Given the description of an element on the screen output the (x, y) to click on. 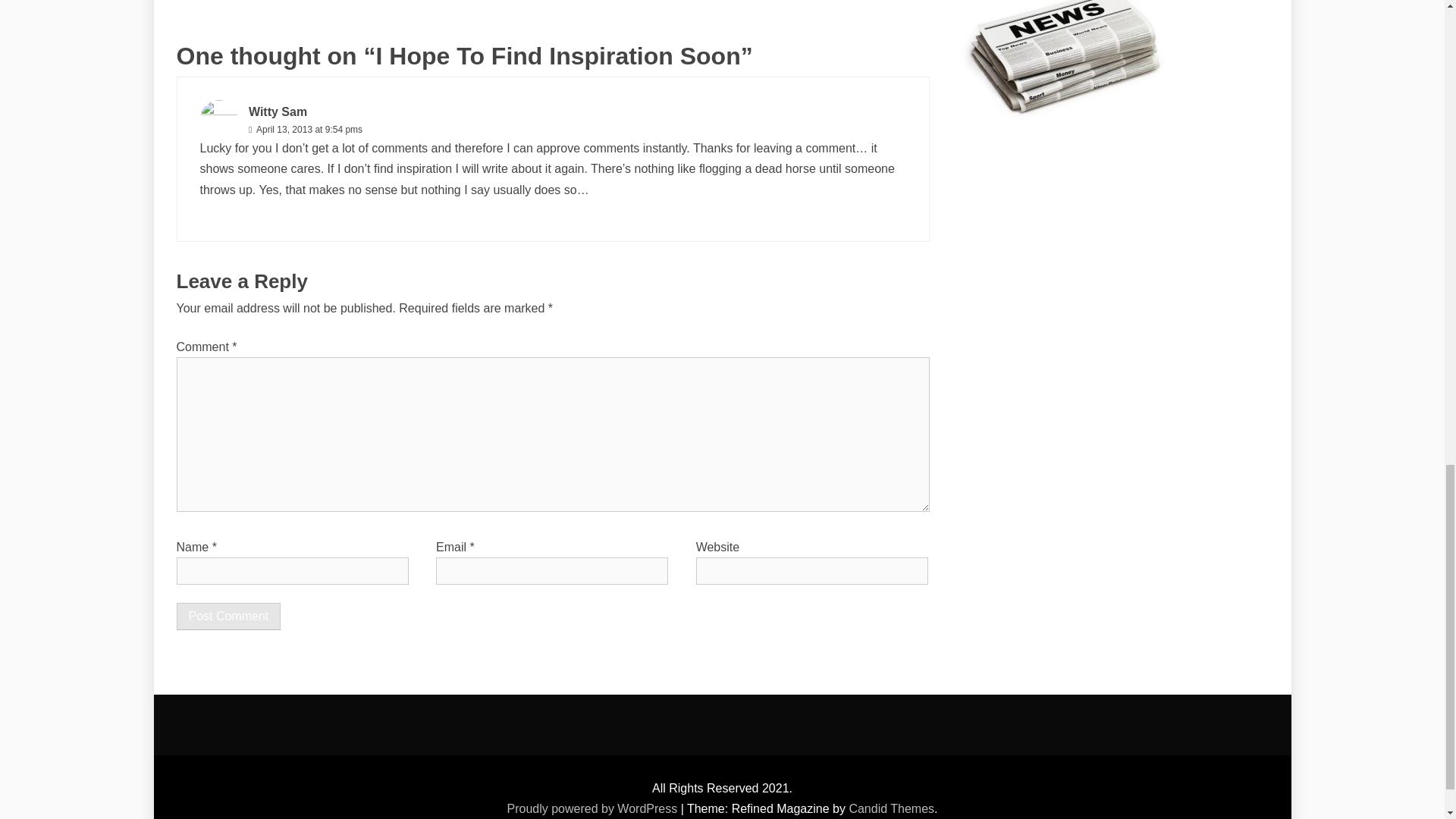
Post Comment (228, 615)
Witty Sam (277, 111)
Post Comment (228, 615)
April 13, 2013 at 9:54 pms (307, 129)
